Given the description of an element on the screen output the (x, y) to click on. 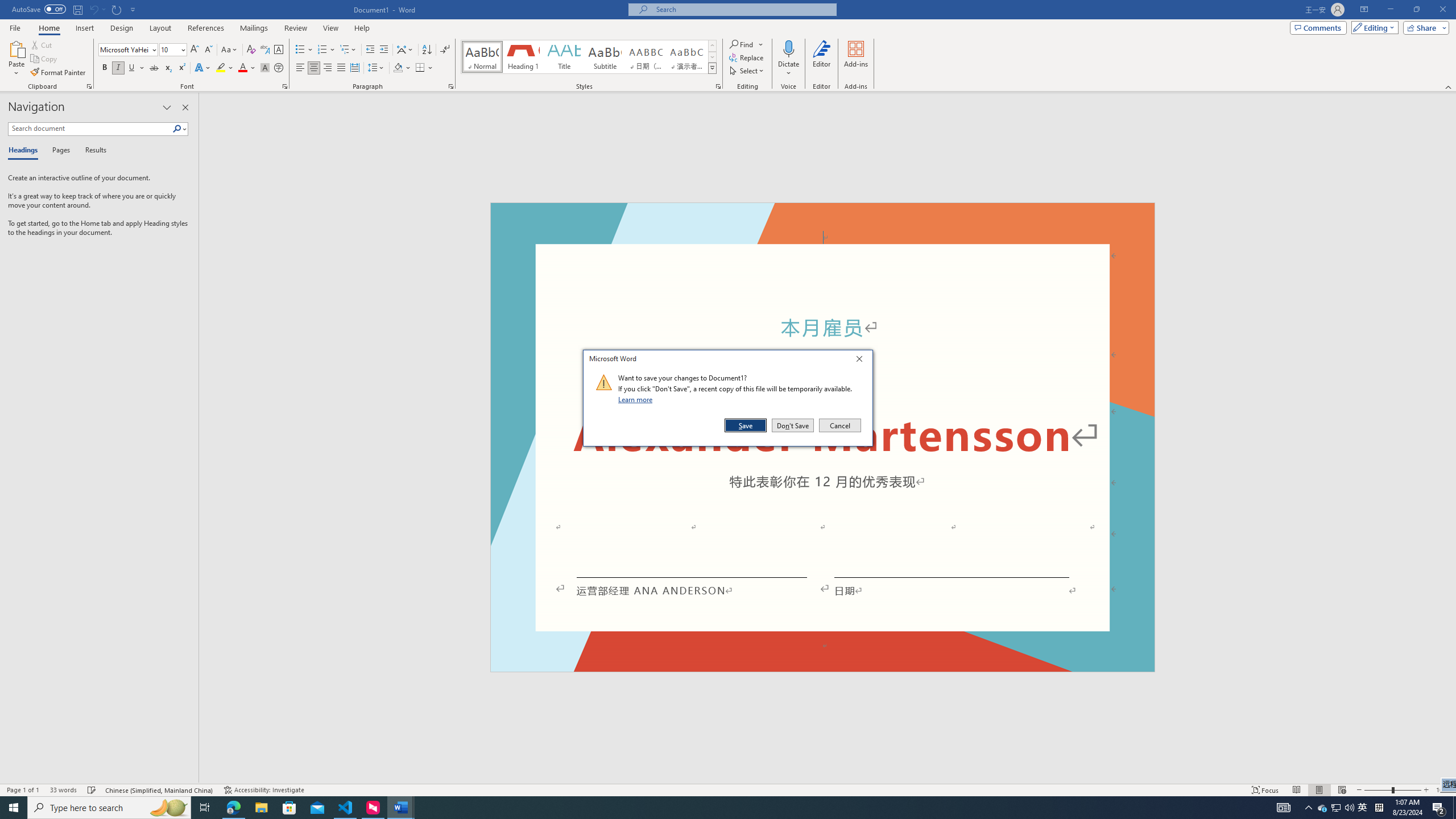
Q2790: 100% (1349, 807)
Spelling and Grammar Check Checking (91, 790)
